Given the description of an element on the screen output the (x, y) to click on. 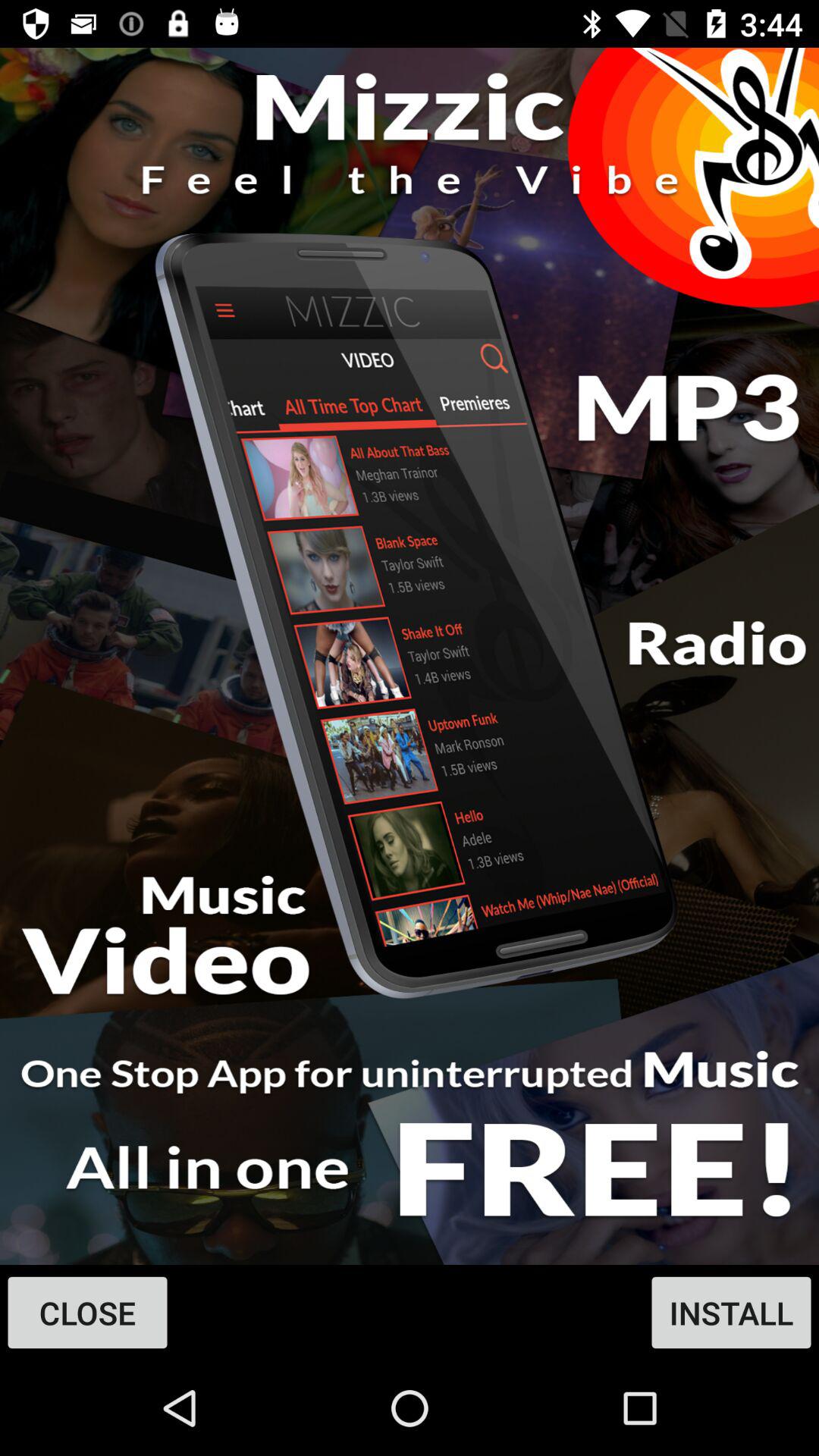
music app (409, 655)
